Given the description of an element on the screen output the (x, y) to click on. 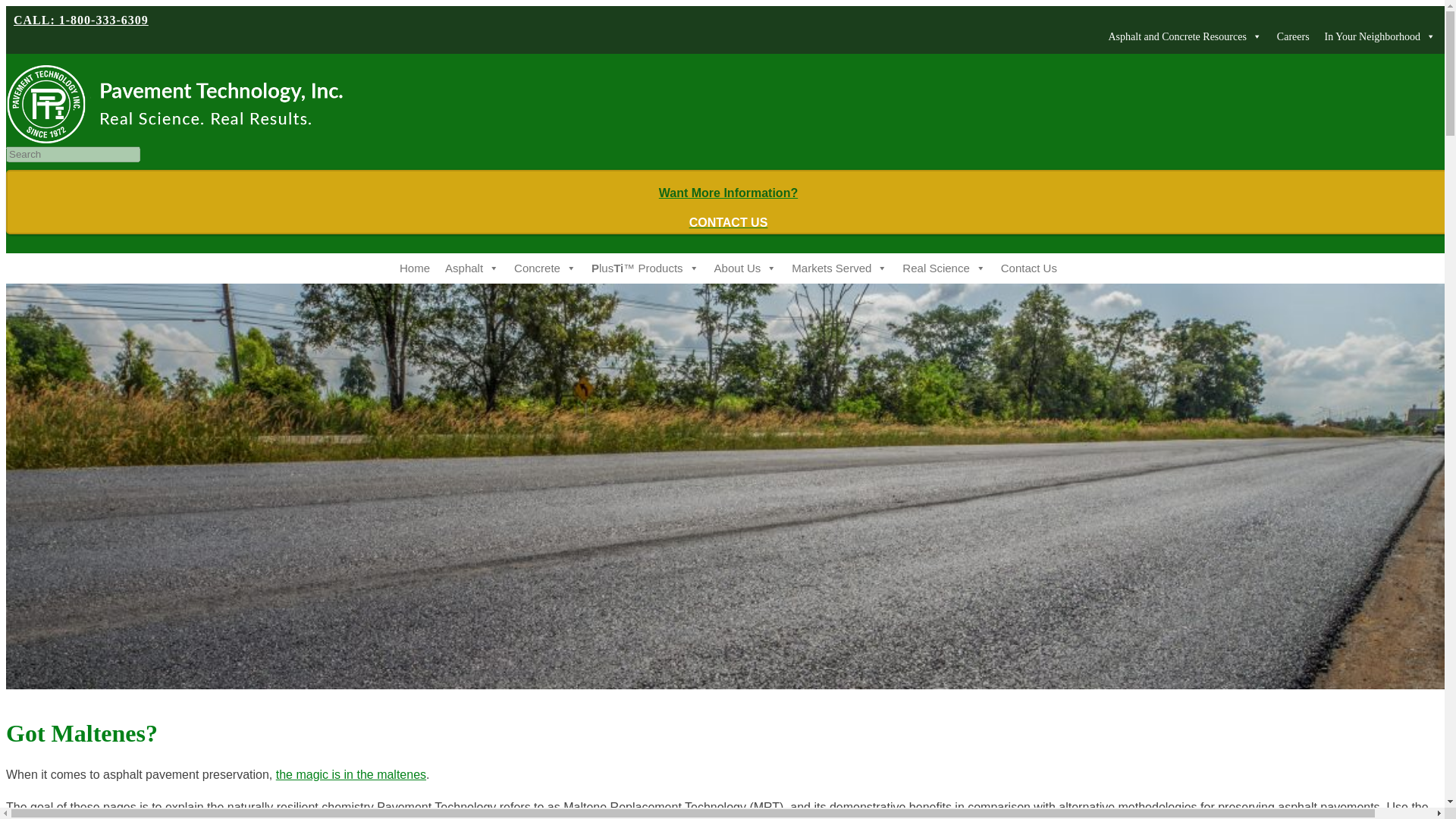
Asphalt (472, 268)
CALL: 1-800-333-6309 (80, 19)
Concrete (544, 268)
Asphalt and Concrete Resources (727, 207)
Home (1184, 36)
Careers (414, 268)
In Your Neighborhood (1293, 36)
